Given the description of an element on the screen output the (x, y) to click on. 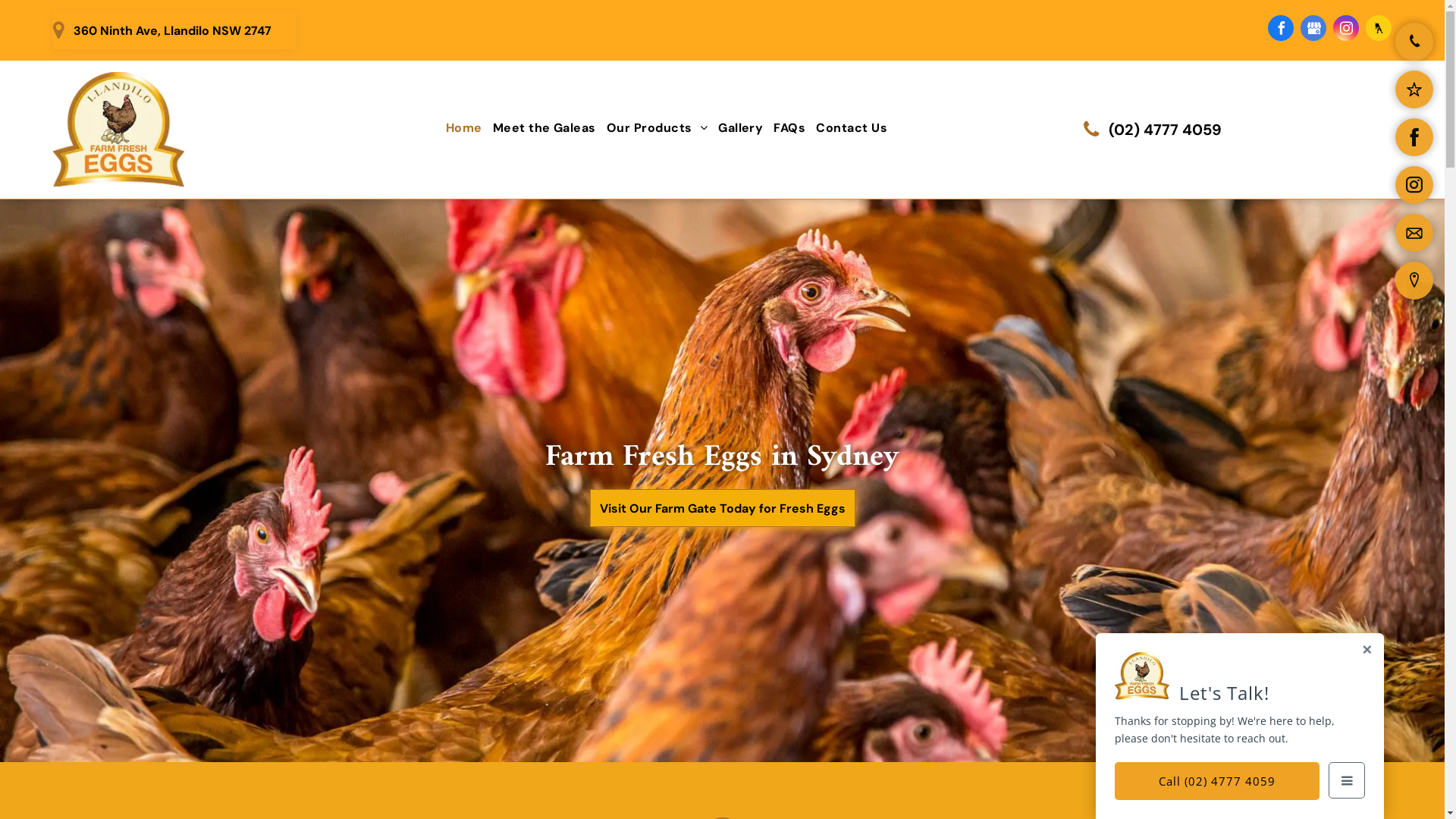
360 Ninth Ave, Llandilo NSW 2747 Element type: text (174, 30)
Llandilo Farm Fresh Eggs Element type: hover (118, 129)
Call (02) 4777 4059 Element type: text (1216, 781)
Meet the Galeas Element type: text (544, 128)
Home Element type: text (463, 128)
Our Products Element type: text (656, 128)
(02) 4777 4059 Element type: text (1145, 128)
Contact Us Element type: text (851, 128)
FAQs Element type: text (789, 128)
Gallery Element type: text (740, 128)
Visit Our Farm Gate Today for Fresh Eggs Element type: text (722, 508)
